Given the description of an element on the screen output the (x, y) to click on. 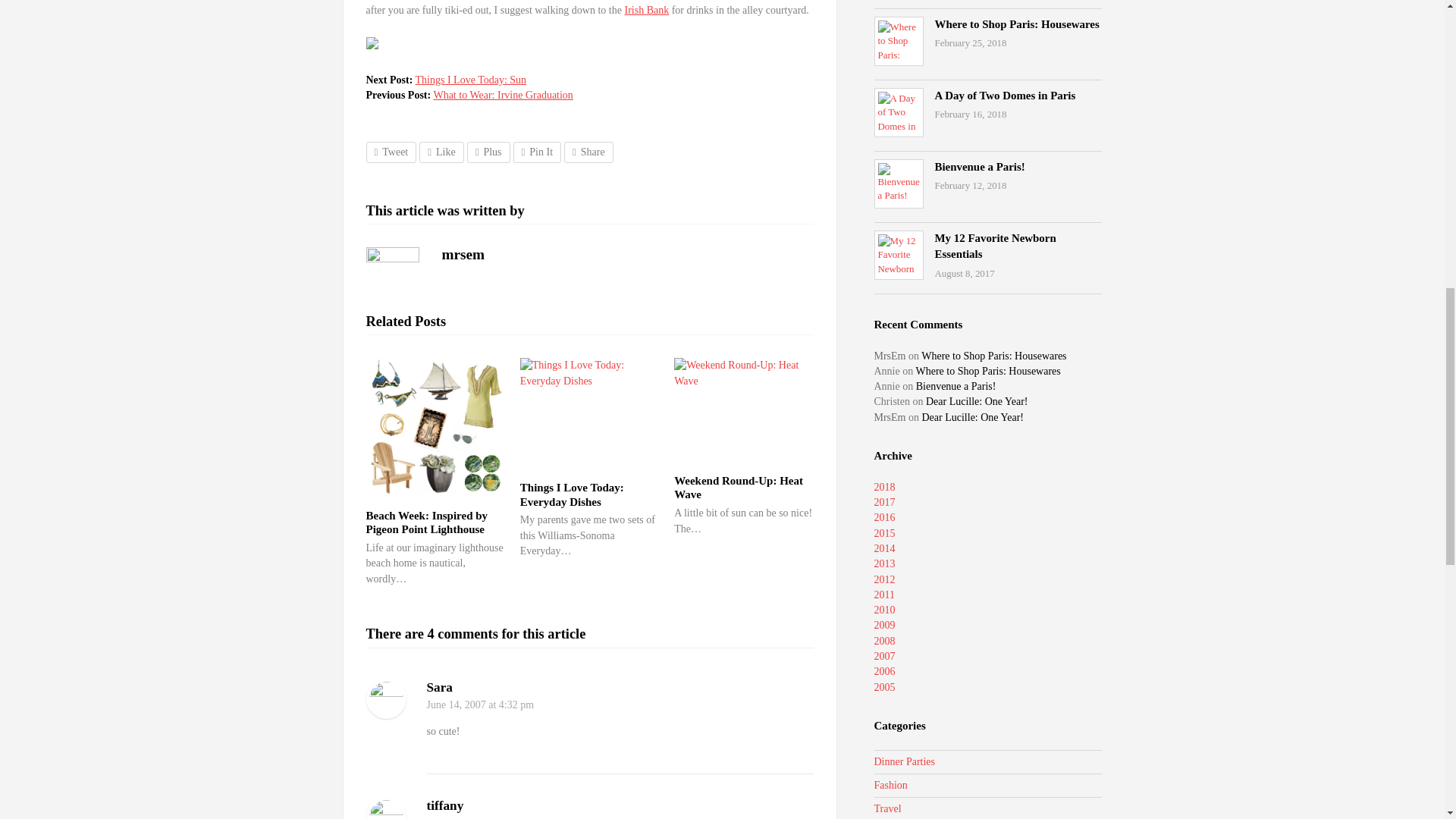
Share (588, 151)
Things I Love Today: Everyday Dishes (571, 494)
What to Wear: Irvine Graduation (502, 94)
June 14, 2007 (455, 818)
Pin It (536, 151)
mrsem (462, 254)
Like (441, 151)
tiffany (444, 805)
Share on Twitter (390, 151)
Visit Author Page (392, 273)
